Given the description of an element on the screen output the (x, y) to click on. 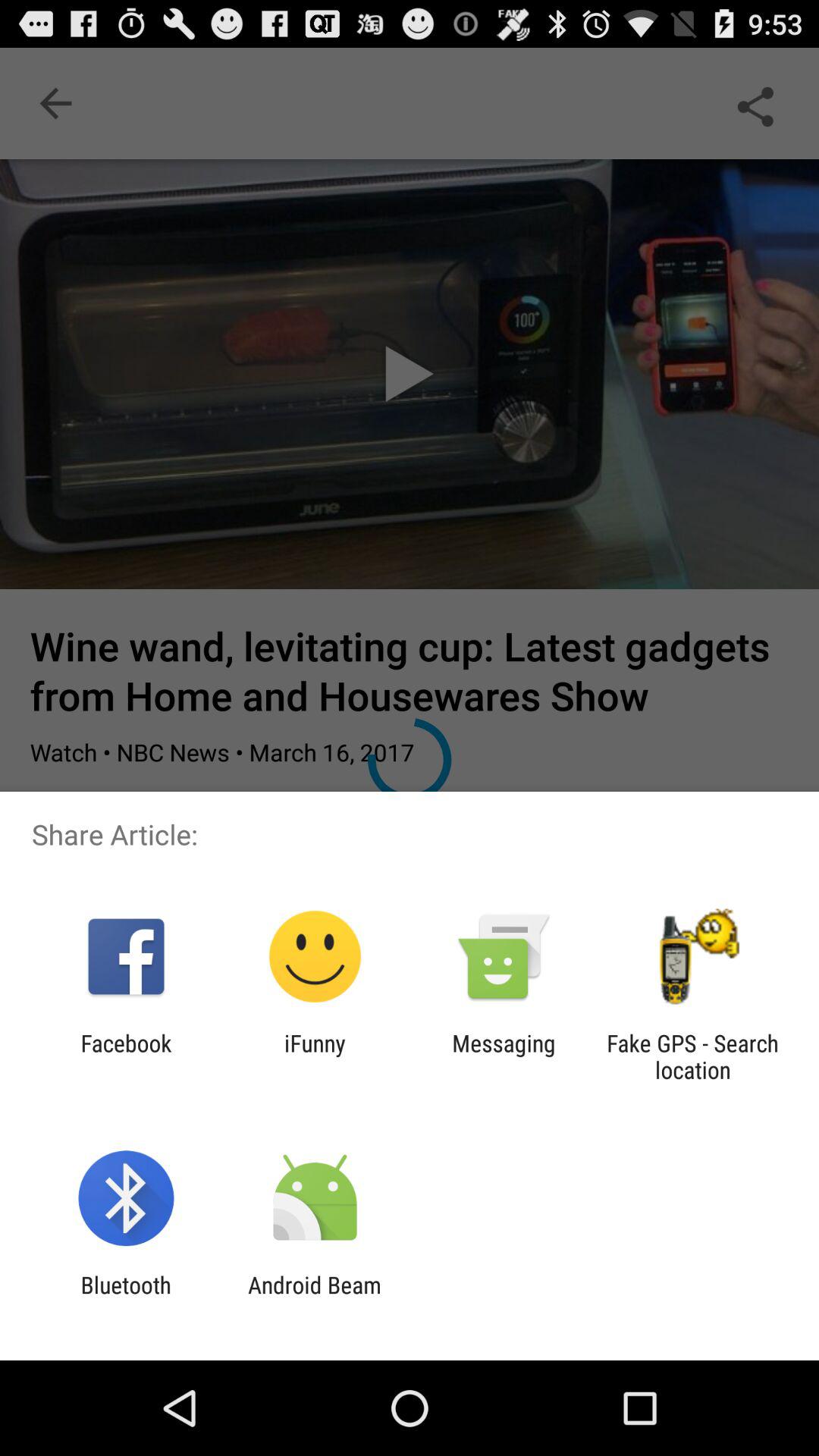
turn off fake gps search item (692, 1056)
